Given the description of an element on the screen output the (x, y) to click on. 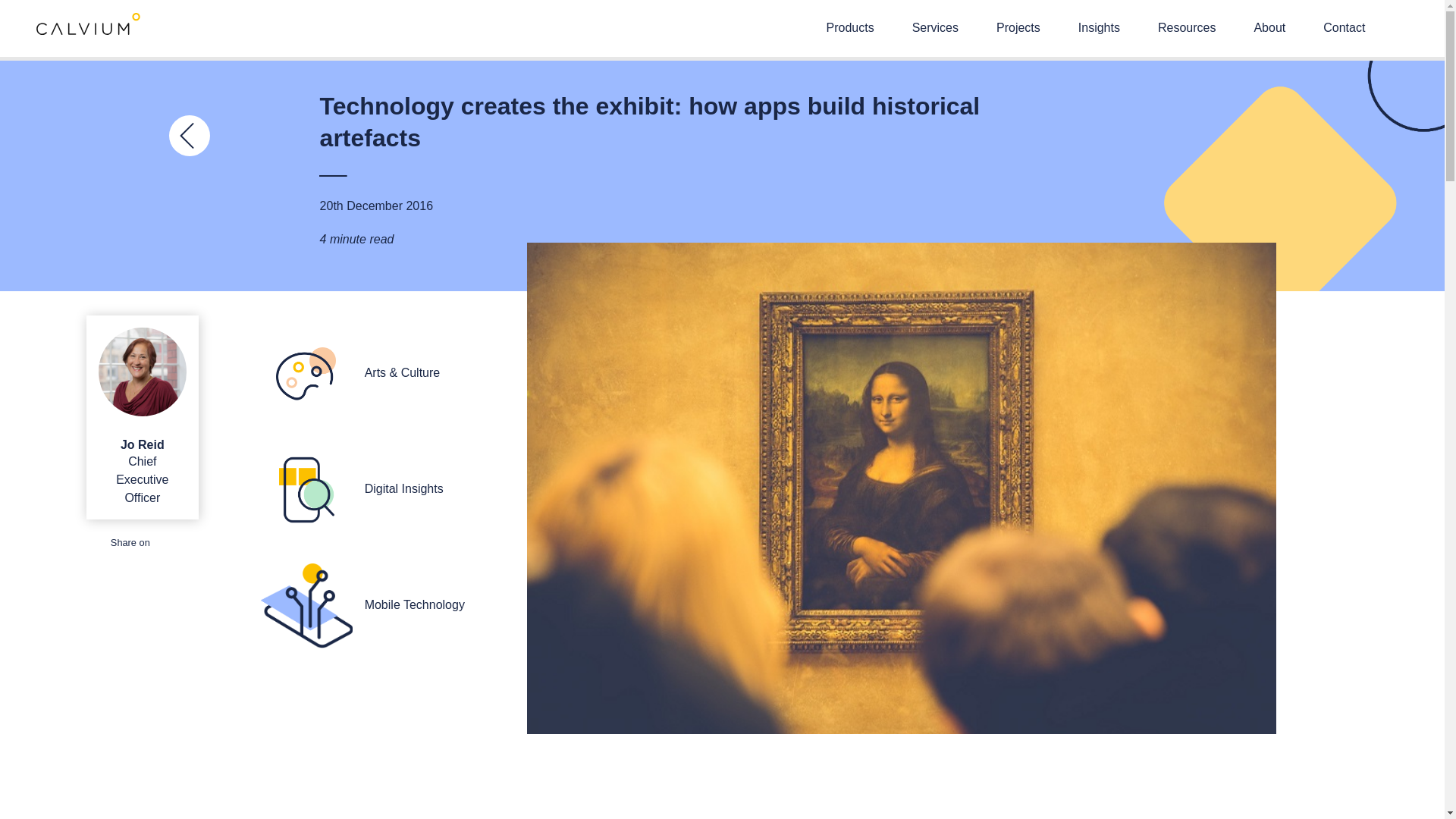
Resources (1186, 27)
Contact (1344, 27)
Products (851, 27)
About (1269, 27)
Projects (1018, 27)
Insights (1098, 27)
Services (935, 27)
Back to Blog (188, 137)
